Given the description of an element on the screen output the (x, y) to click on. 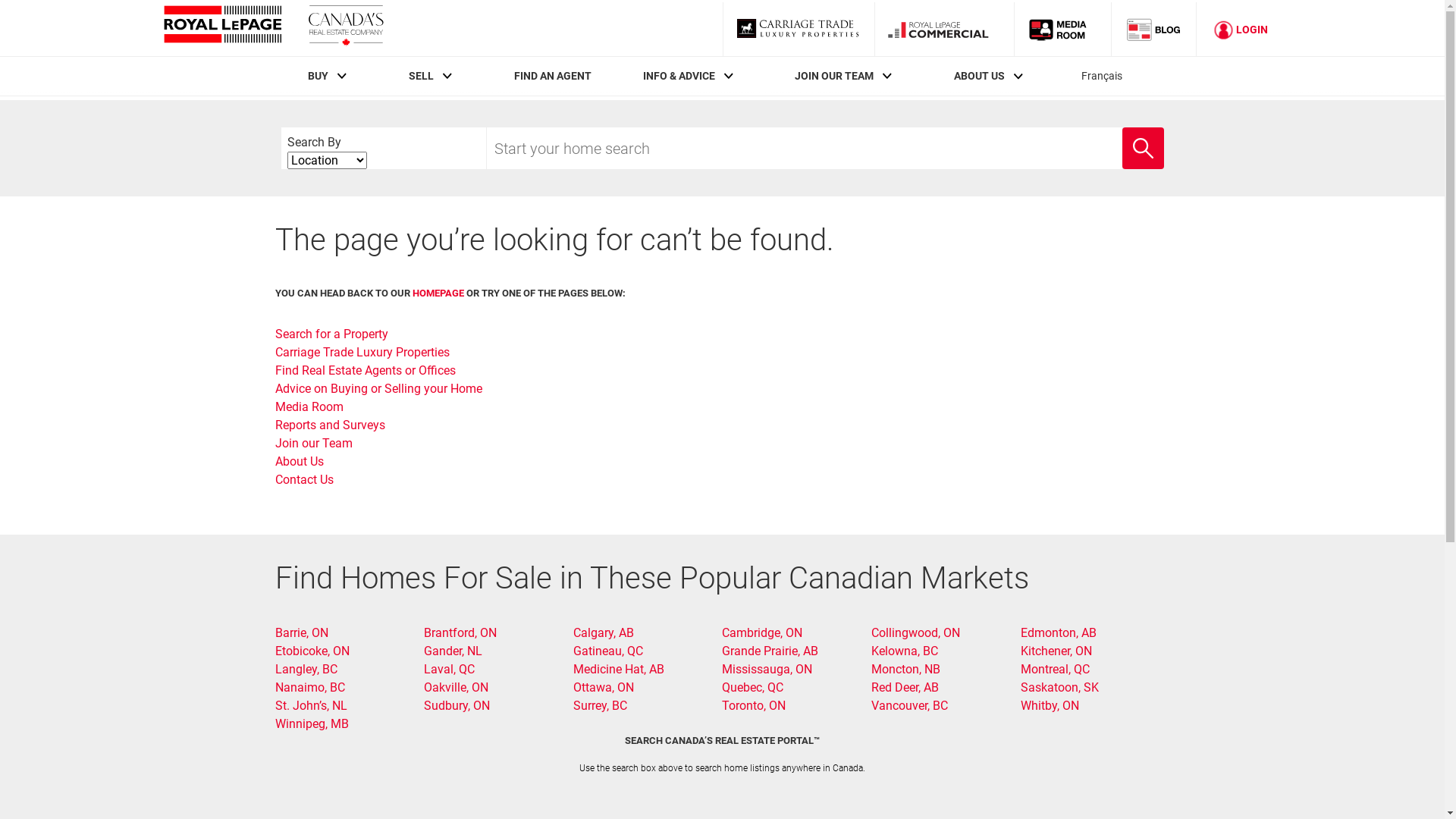
HOMEPAGE Element type: text (438, 292)
Gander, NL Element type: text (452, 650)
Brantford, ON Element type: text (459, 631)
Find Real Estate Agents or Offices Element type: text (364, 369)
BUY Element type: text (317, 75)
Toronto, ON Element type: text (753, 704)
Quebec, QC Element type: text (752, 686)
Montreal, QC Element type: text (1054, 668)
Edmonton, AB Element type: text (1058, 631)
Reports and Surveys Element type: text (329, 424)
Sudbury, ON Element type: text (456, 704)
Commercial Element type: text (943, 28)
Kelowna, BC Element type: text (904, 650)
Carriage Trade Luxury Properties Element type: text (361, 351)
Surrey, BC Element type: text (600, 704)
Langley, BC Element type: text (305, 668)
Mississauga, ON Element type: text (766, 668)
ABOUT US Element type: text (978, 75)
Gatineau, QC Element type: text (608, 650)
Ottawa, ON Element type: text (603, 686)
Collingwood, ON Element type: text (915, 631)
Grande Prairie, AB Element type: text (769, 650)
INFO & ADVICE Element type: text (679, 75)
Media Room Element type: text (308, 405)
Submit Element type: text (1121, 127)
Contact Us Element type: text (303, 478)
Nanaimo, BC Element type: text (309, 686)
JOIN OUR TEAM Element type: text (833, 75)
Medicine Hat, AB Element type: text (618, 668)
Search for a Property Element type: text (330, 333)
Vancouver, BC Element type: text (909, 704)
Join our Team Element type: text (312, 442)
Moncton, NB Element type: text (905, 668)
Saskatoon, SK Element type: text (1059, 686)
Advice on Buying or Selling your Home Element type: text (377, 387)
Kitchener, ON Element type: text (1056, 650)
Laval, QC Element type: text (448, 668)
Oakville, ON Element type: text (455, 686)
Luxury Properties Element type: text (798, 28)
SELL Element type: text (420, 75)
Blog Element type: text (1153, 28)
Whitby, ON Element type: text (1049, 704)
Etobicoke, ON Element type: text (311, 650)
FIND AN AGENT Element type: text (552, 75)
Barrie, ON Element type: text (300, 631)
Media Room Element type: text (1061, 28)
Calgary, AB Element type: text (603, 631)
Winnipeg, MB Element type: text (311, 722)
Cambridge, ON Element type: text (761, 631)
About Us Element type: text (298, 460)
Red Deer, AB Element type: text (904, 686)
